Given the description of an element on the screen output the (x, y) to click on. 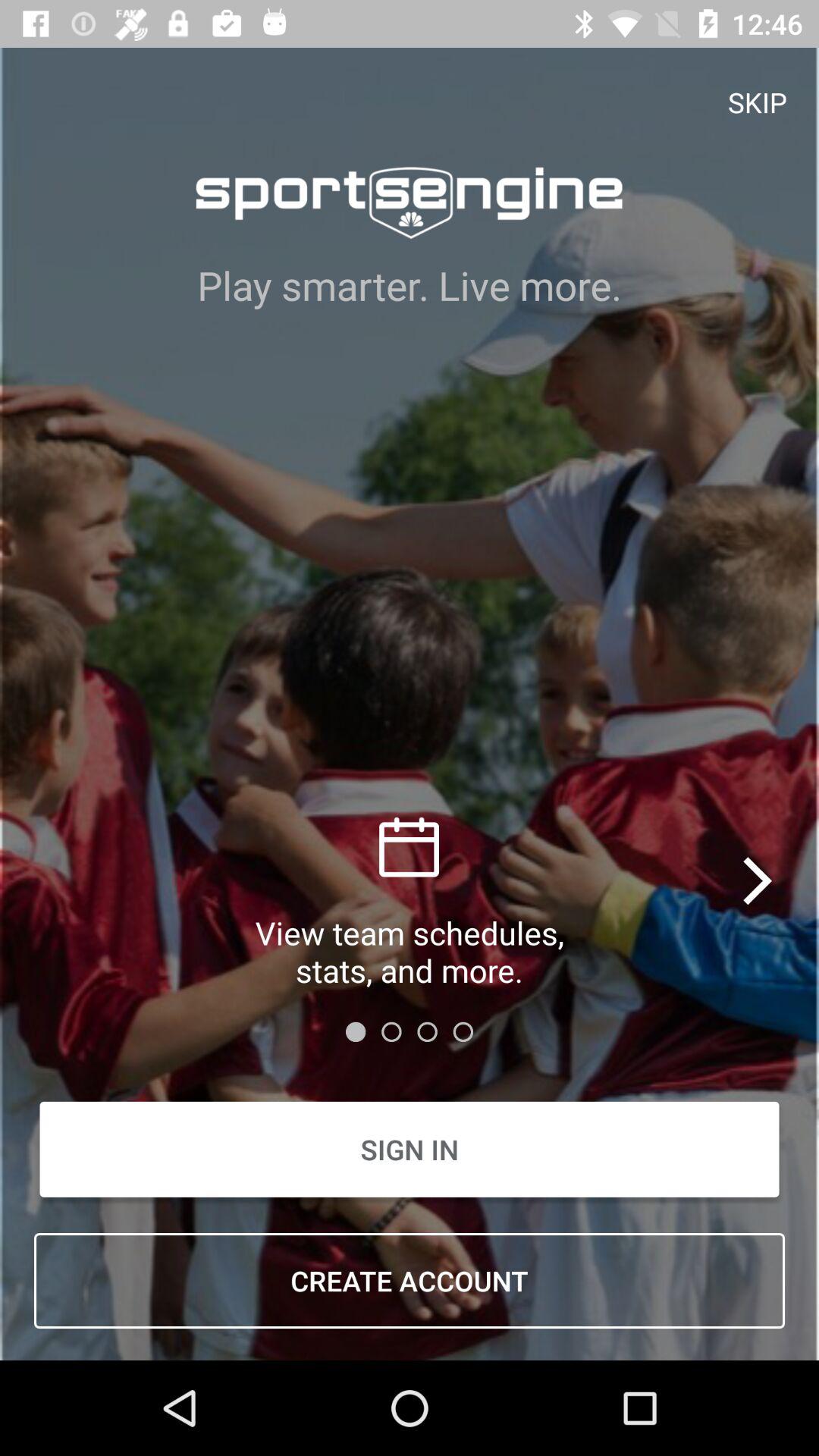
choose item on the right (759, 880)
